Given the description of an element on the screen output the (x, y) to click on. 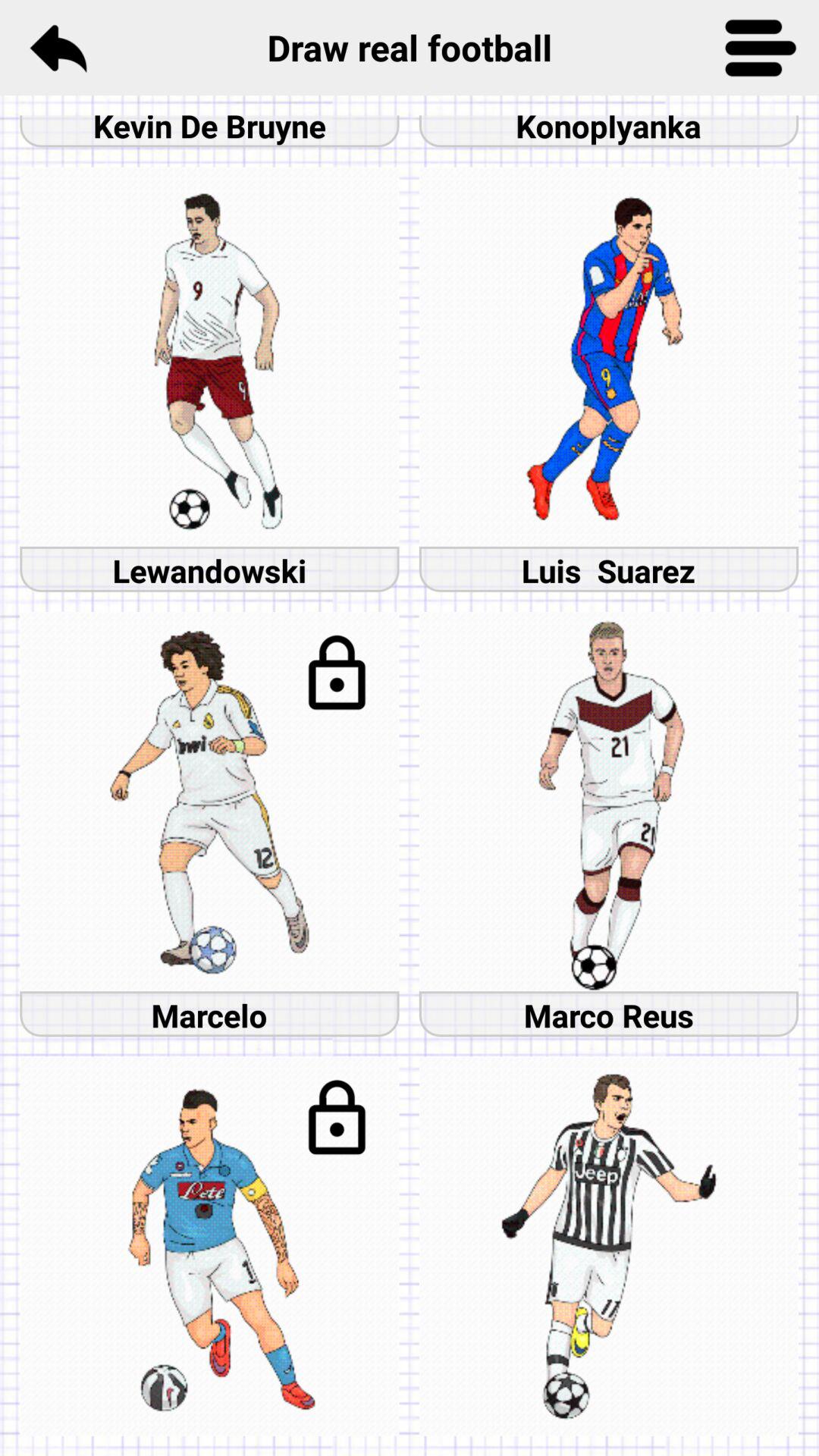
go to previous page (58, 47)
